Given the description of an element on the screen output the (x, y) to click on. 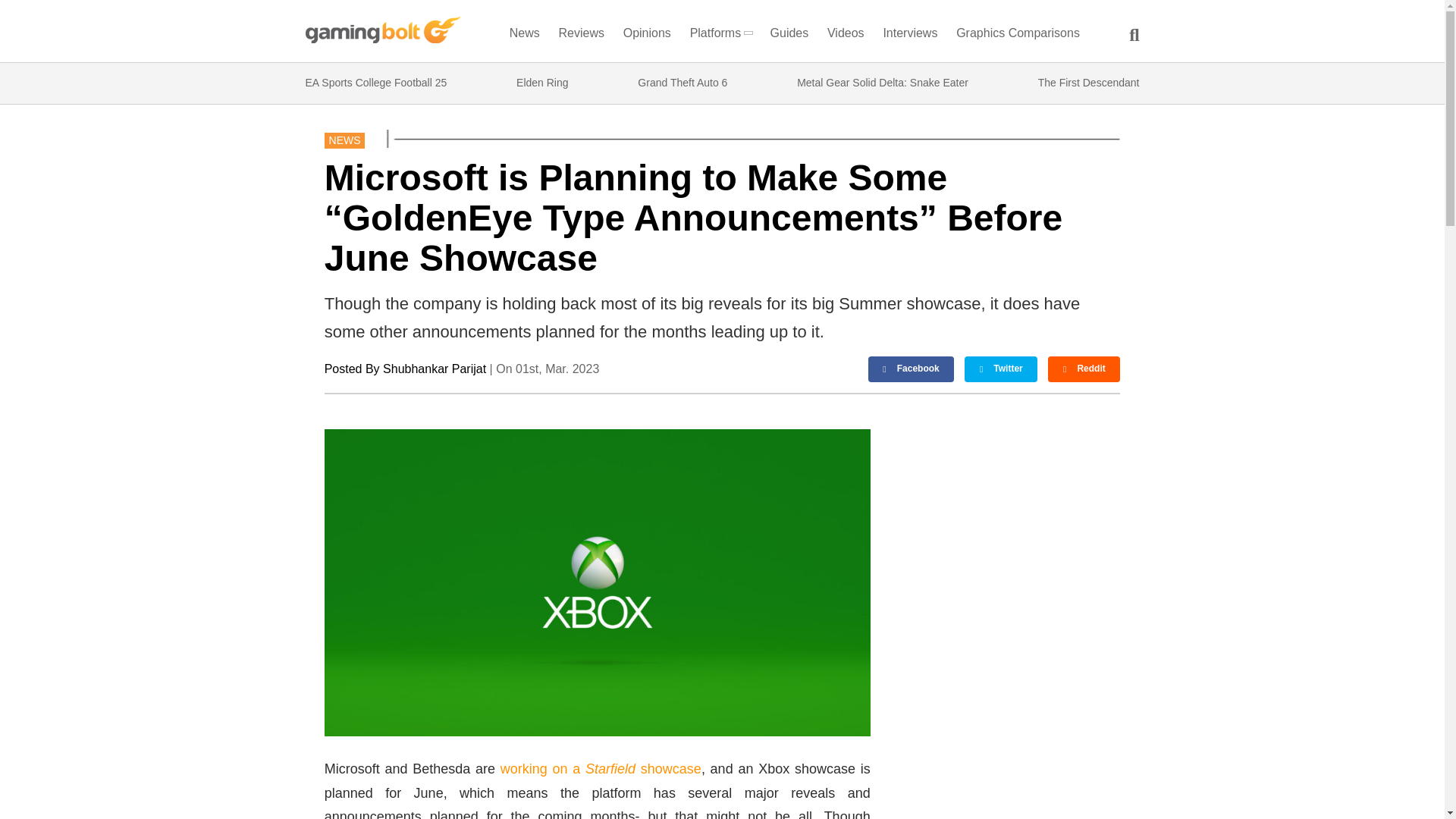
Shubhankar Parijat (434, 368)
Twitter (999, 369)
Grand Theft Auto 6 (681, 82)
Graphics Comparisons (1017, 36)
Reddit (1083, 369)
NEWS (345, 140)
Posts by Shubhankar Parijat (434, 368)
News (524, 36)
Elden Ring (542, 82)
working on a Starfield showcase (600, 768)
Facebook (911, 369)
Metal Gear Solid Delta: Snake Eater (882, 82)
Videos (845, 36)
The First Descendant (1089, 82)
Platforms (720, 36)
